Given the description of an element on the screen output the (x, y) to click on. 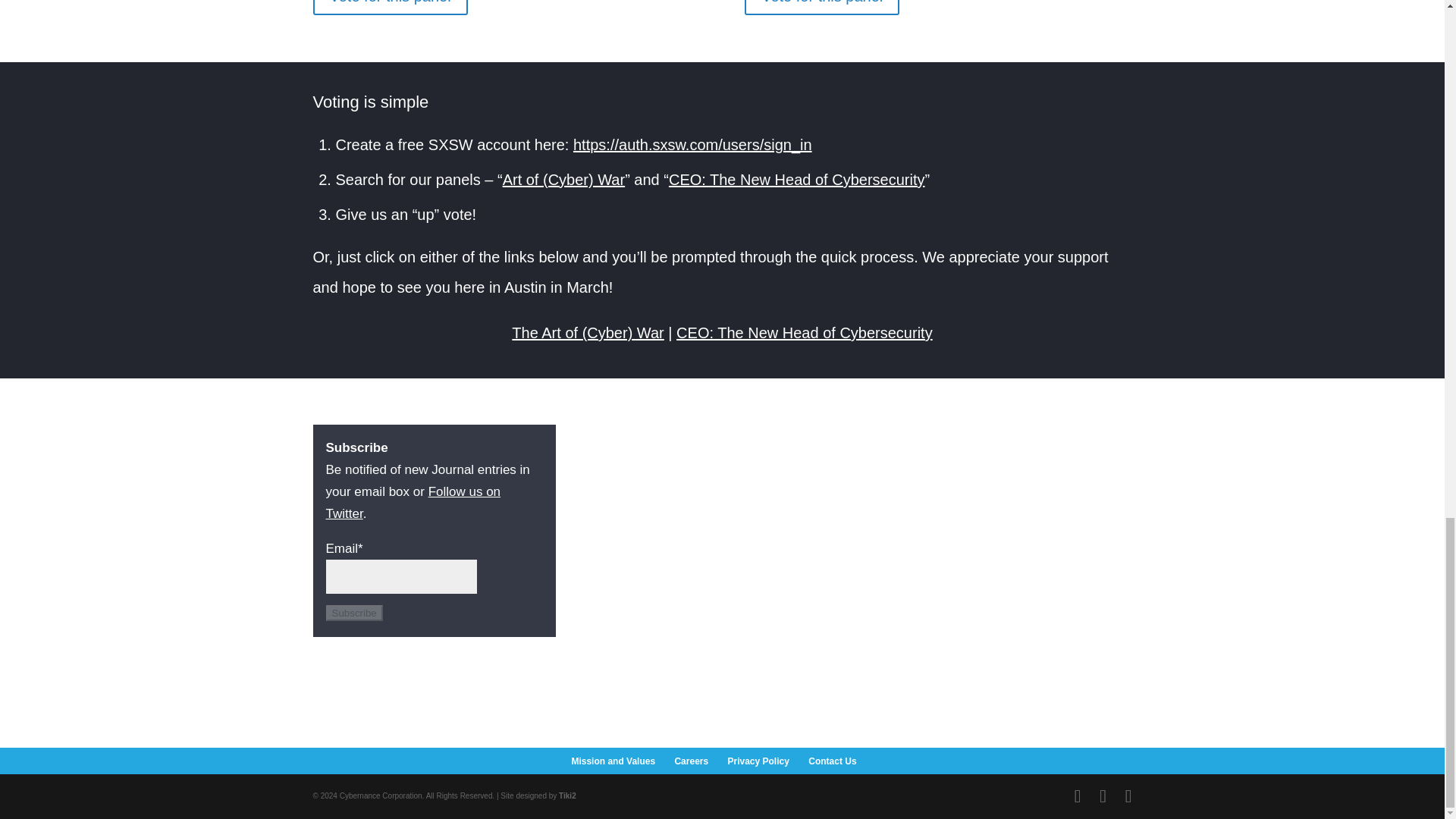
CEO: The New Head of Cybersecurity (796, 179)
Follow us on Twitter (413, 502)
Subscribe (354, 612)
Vote for this panel (821, 7)
CEO: The New Head of Cybersecurity (805, 332)
Vote for this panel (390, 7)
Subscribe (354, 612)
